Given the description of an element on the screen output the (x, y) to click on. 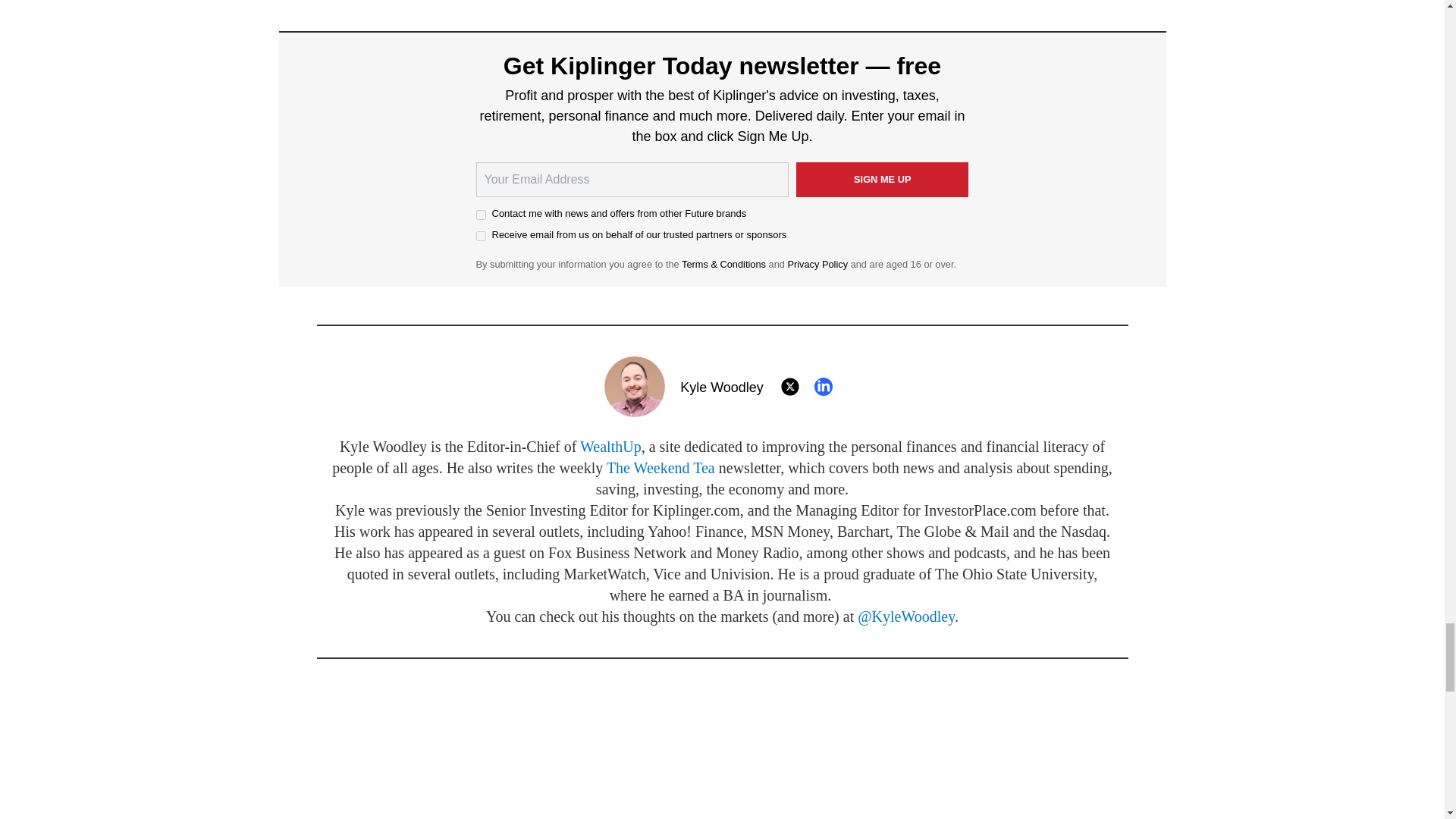
on (481, 235)
on (481, 214)
Sign me up (882, 179)
